Given the description of an element on the screen output the (x, y) to click on. 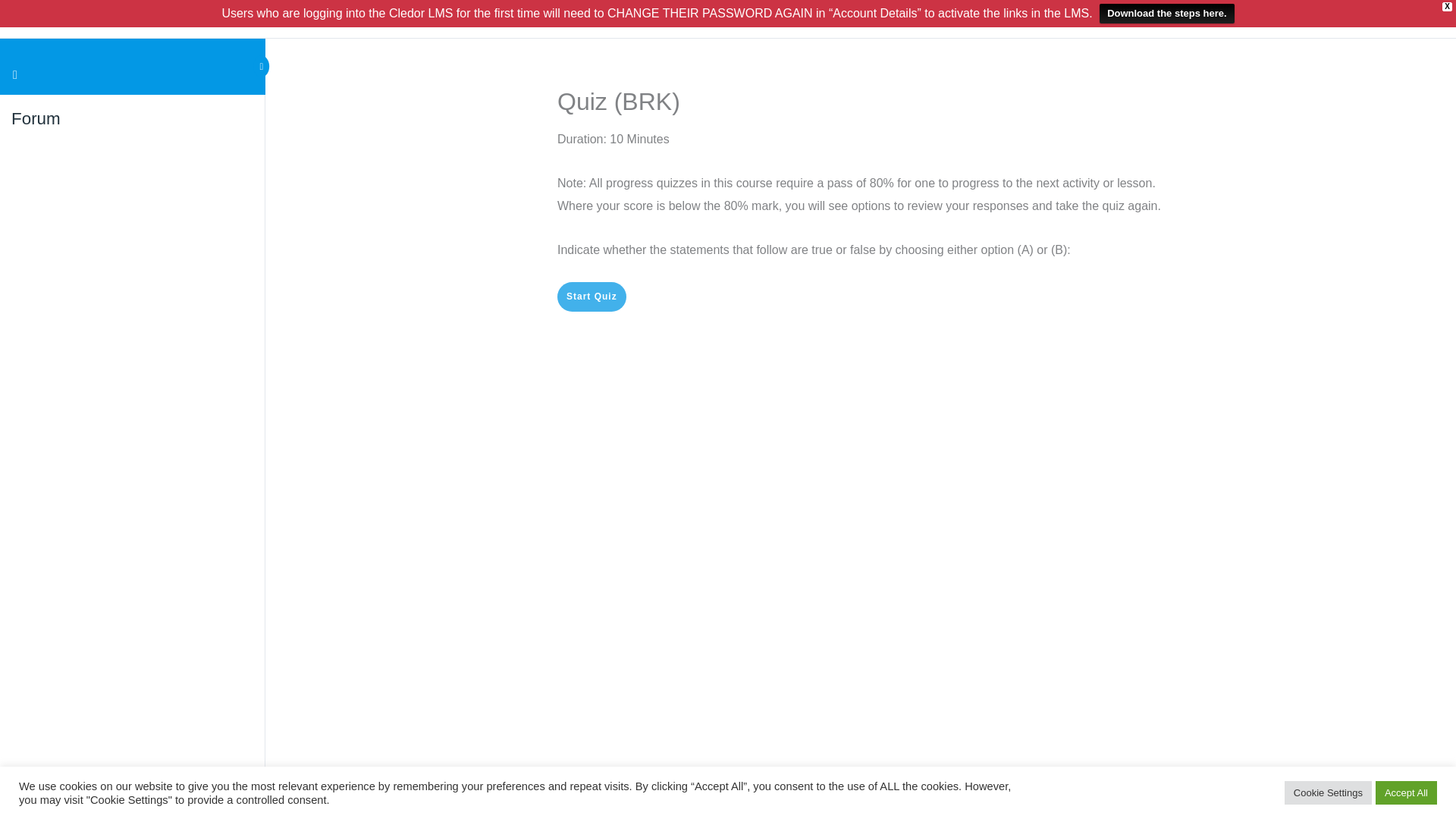
Download the steps here. (1166, 13)
Start Quiz (591, 296)
